Given the description of an element on the screen output the (x, y) to click on. 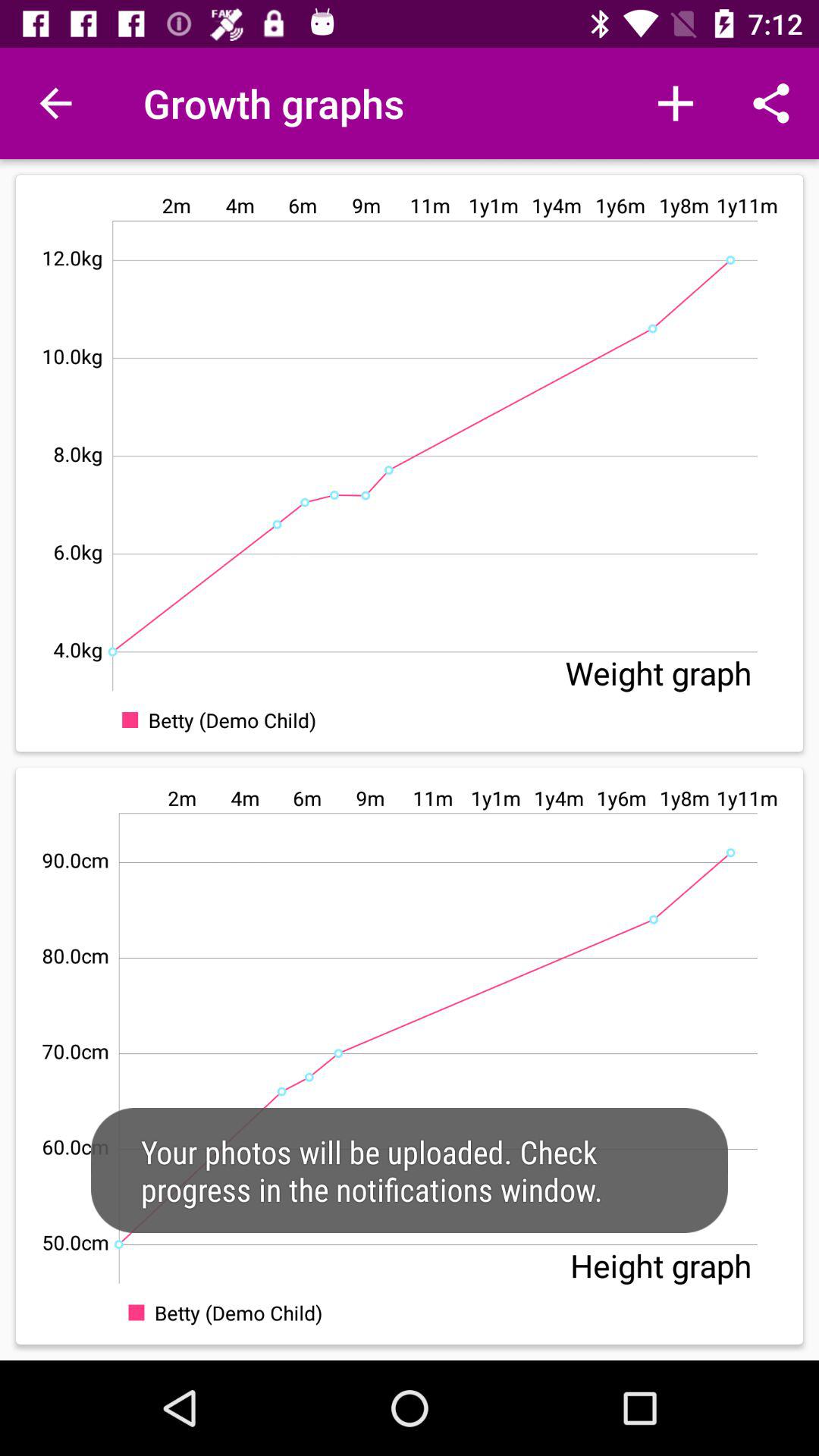
turn off the app to the left of the growth graphs (55, 103)
